Given the description of an element on the screen output the (x, y) to click on. 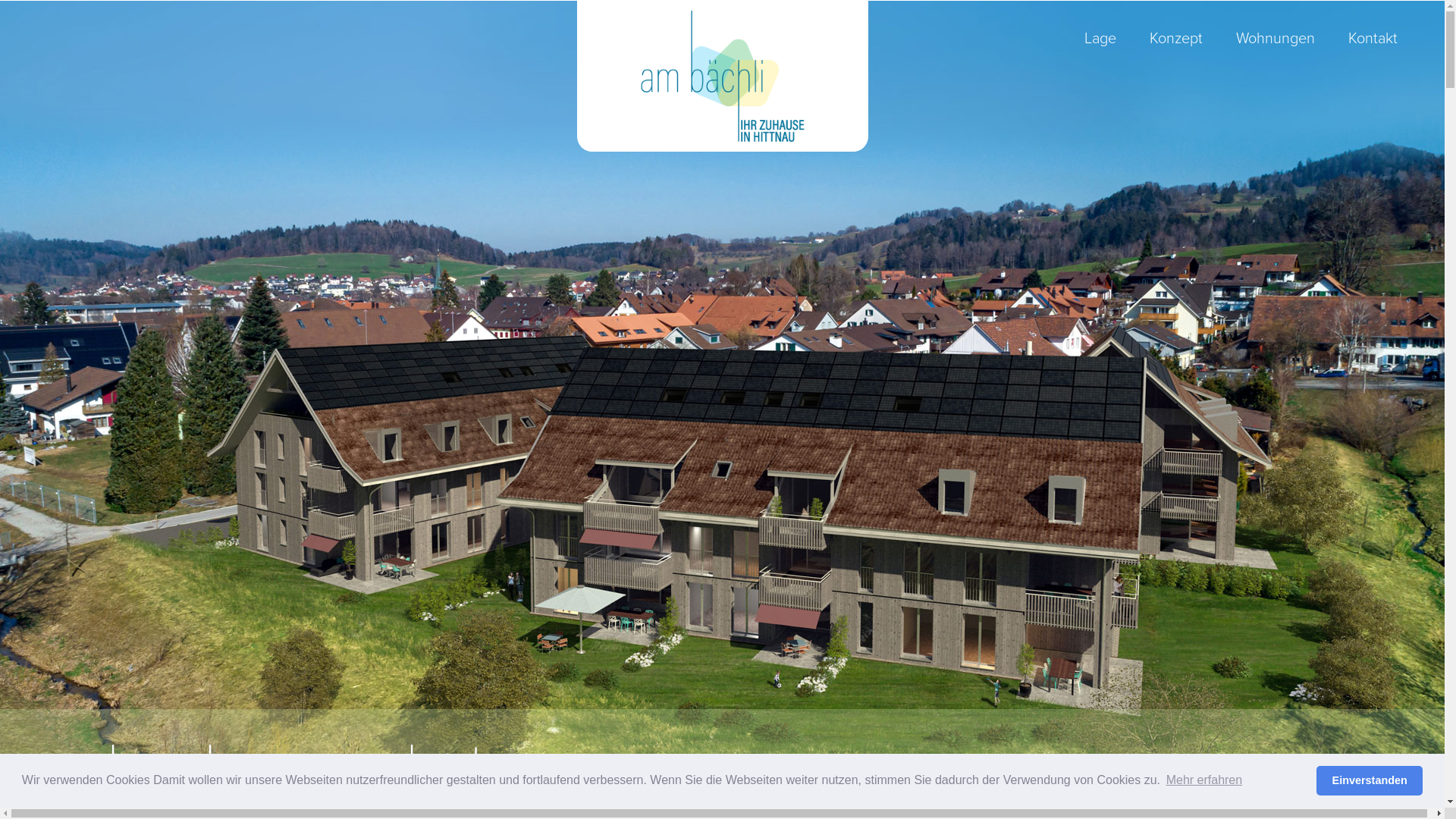
Einverstanden Element type: text (1369, 780)
Mehr erfahren Element type: text (1203, 779)
Konzept Element type: text (1176, 37)
Kontakt Element type: text (1372, 37)
Wohnungen Element type: text (1275, 37)
Lage Element type: text (1099, 37)
